Given the description of an element on the screen output the (x, y) to click on. 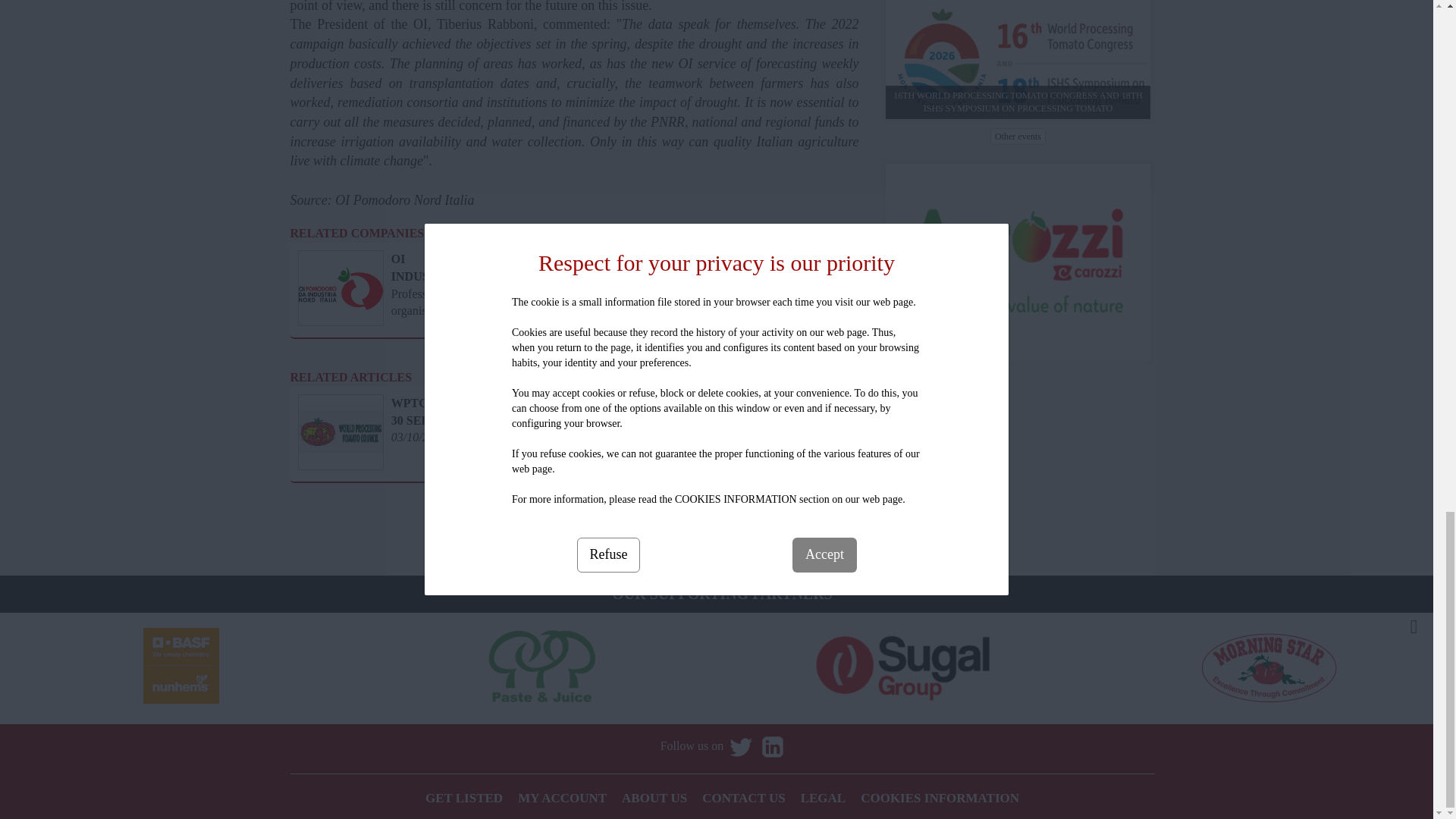
Back (842, 536)
SEE DETAILS (522, 313)
SEE DETAILS (818, 440)
SEE DETAILS (522, 440)
